Given the description of an element on the screen output the (x, y) to click on. 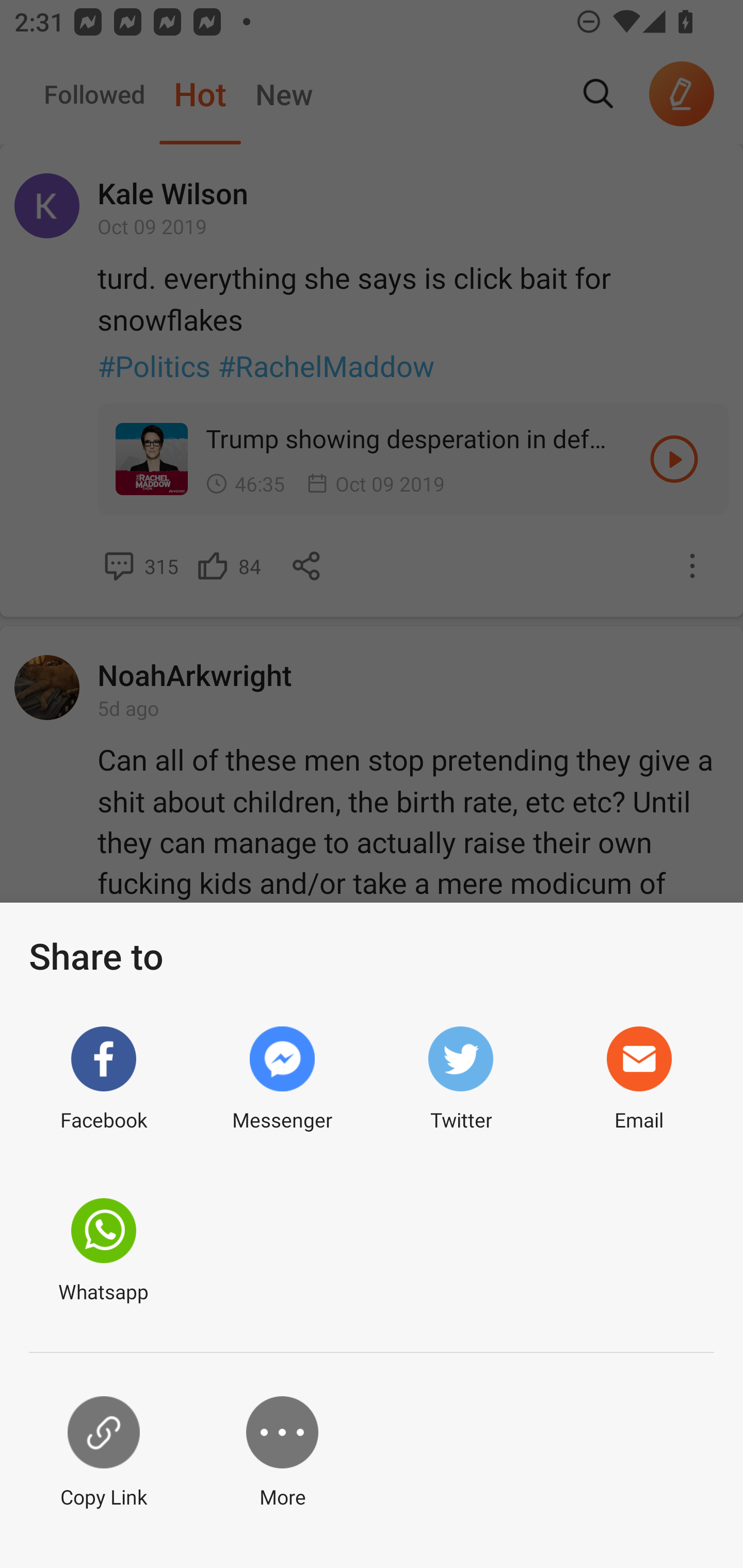
Facebook (103, 1079)
Messenger (282, 1079)
Twitter (460, 1079)
Email (638, 1079)
Whatsapp (103, 1251)
Copy Link (103, 1453)
More (282, 1453)
